Given the description of an element on the screen output the (x, y) to click on. 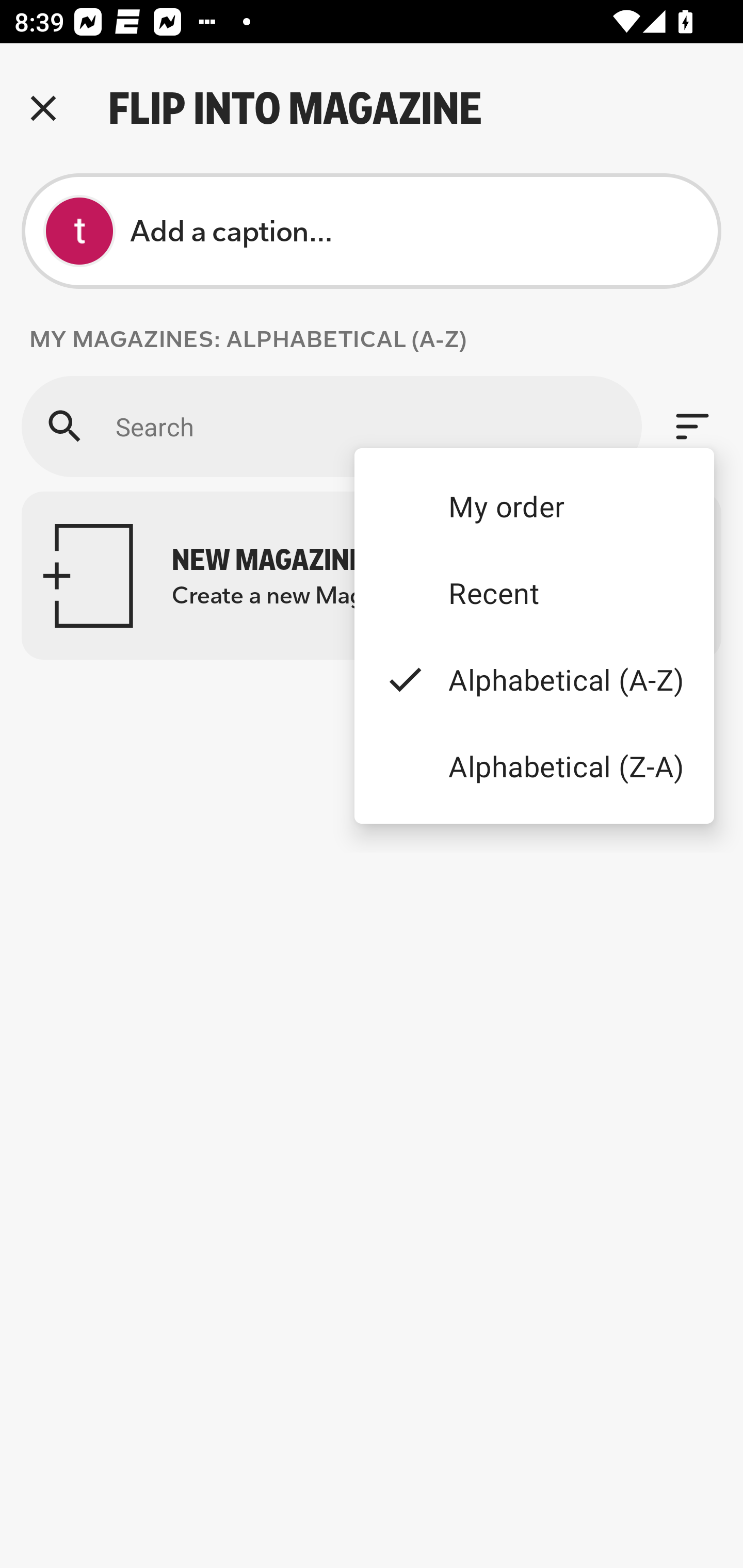
My order (534, 505)
Recent (534, 592)
Alphabetical (A-Z) (534, 679)
Alphabetical (Z-A) (534, 765)
